Given the description of an element on the screen output the (x, y) to click on. 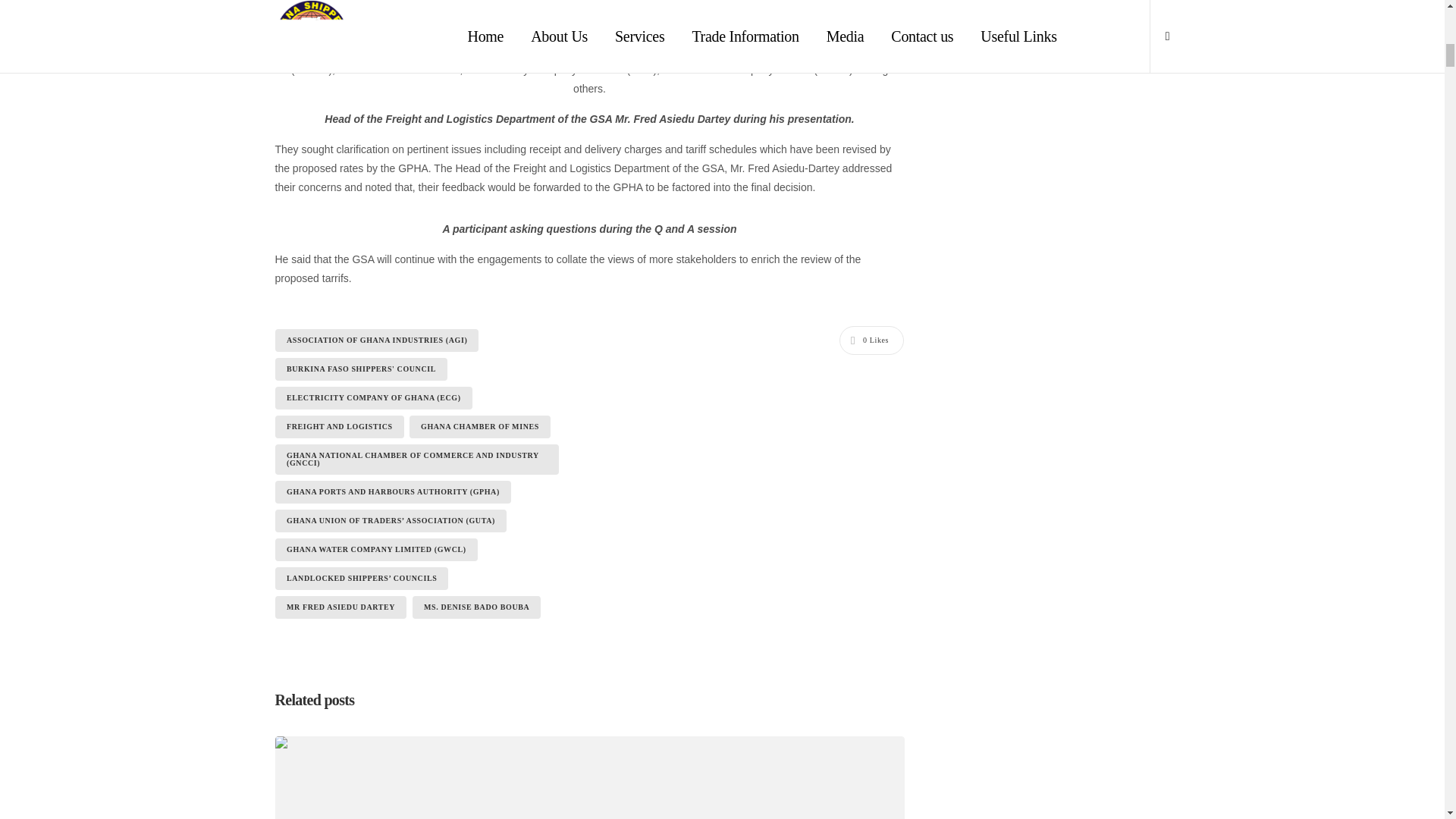
Freight and Logistics (339, 426)
Burkina Faso Shippers' Council (360, 368)
Ghana Chamber of Mines (479, 426)
